Given the description of an element on the screen output the (x, y) to click on. 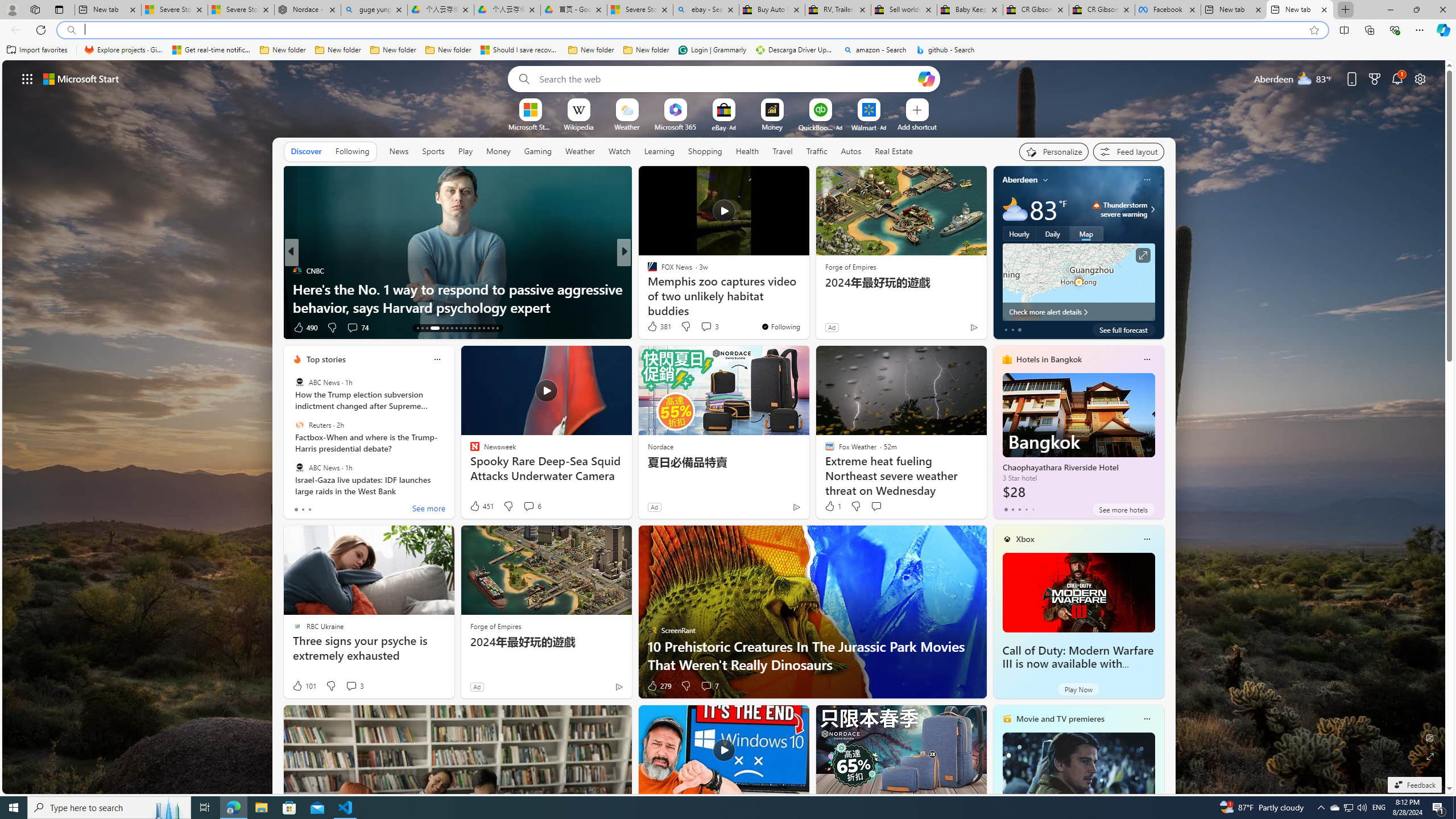
Thunderstorm - Severe (1097, 204)
View comments 100 Comment (705, 327)
Facebook (1167, 9)
Chaophayathara Riverside Hotel (1077, 436)
AutomationID: tab-19 (451, 328)
Shopping (705, 151)
Hourly (1018, 233)
Play (465, 151)
AutomationID: tab-13 (417, 328)
